Given the description of an element on the screen output the (x, y) to click on. 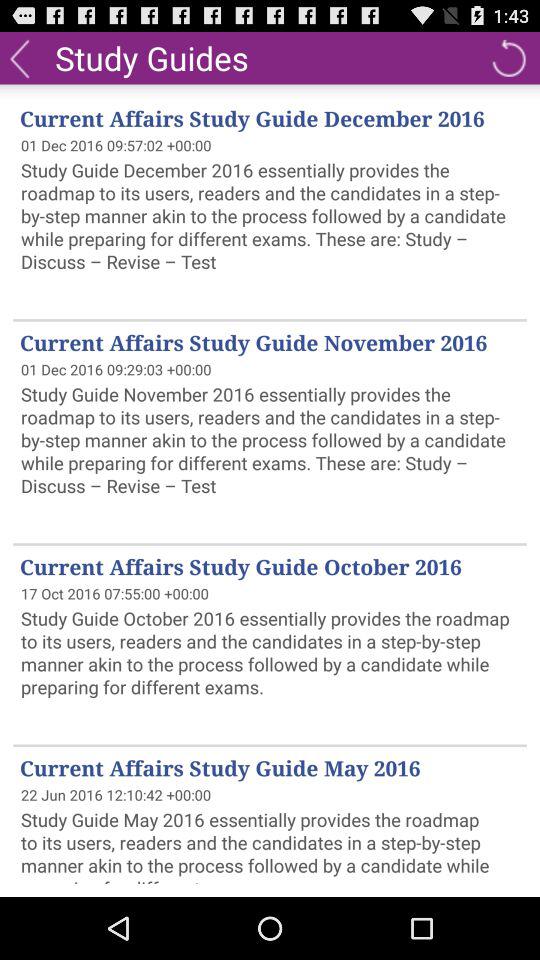
press the icon at the top right corner (508, 57)
